Given the description of an element on the screen output the (x, y) to click on. 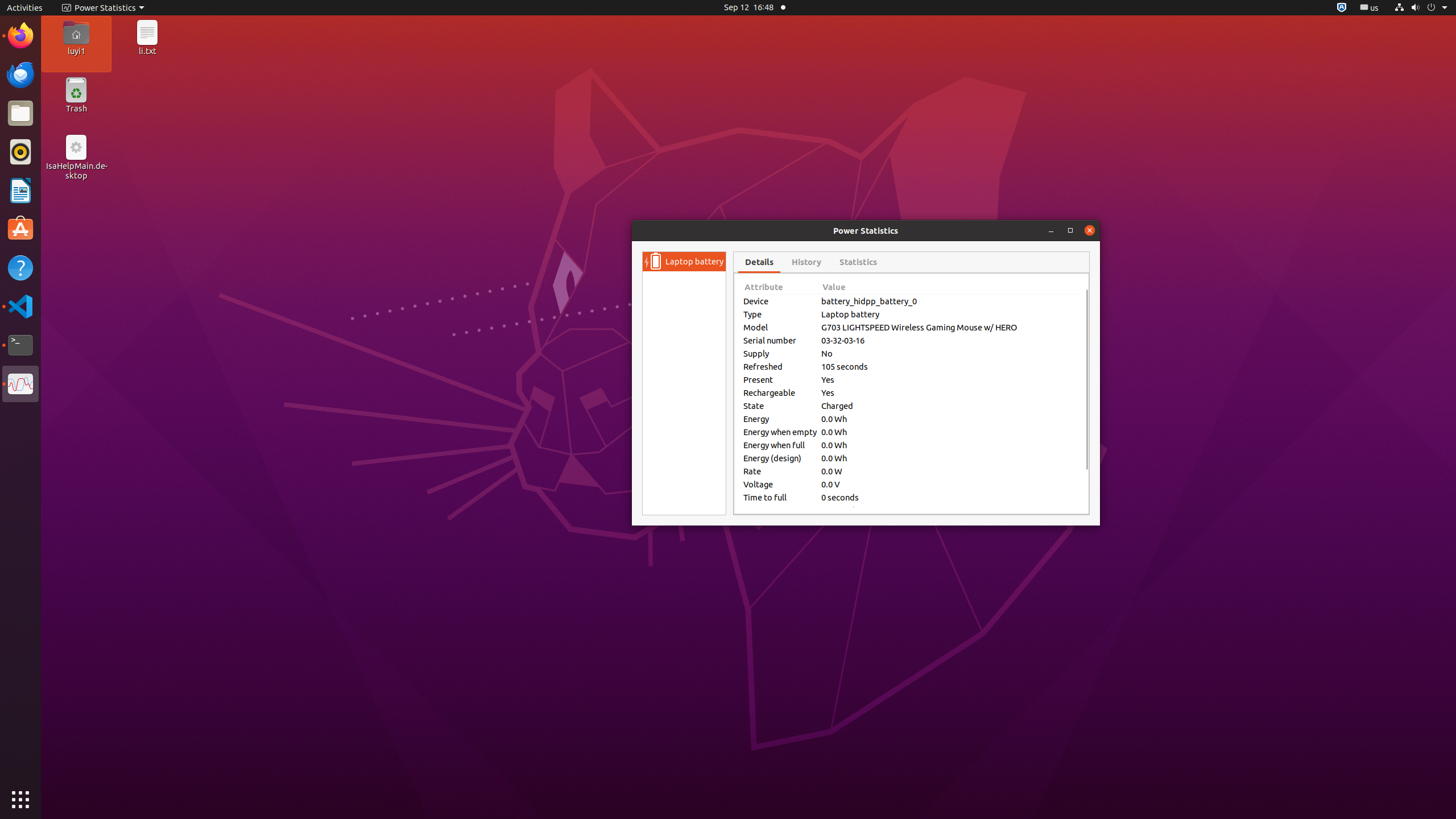
Time to full Element type: table-cell (779, 497)
Type Element type: table-cell (779, 314)
Energy Element type: table-cell (779, 418)
Laptop battery Element type: table-cell (694, 261)
Power Statistics Element type: push-button (20, 383)
